Given the description of an element on the screen output the (x, y) to click on. 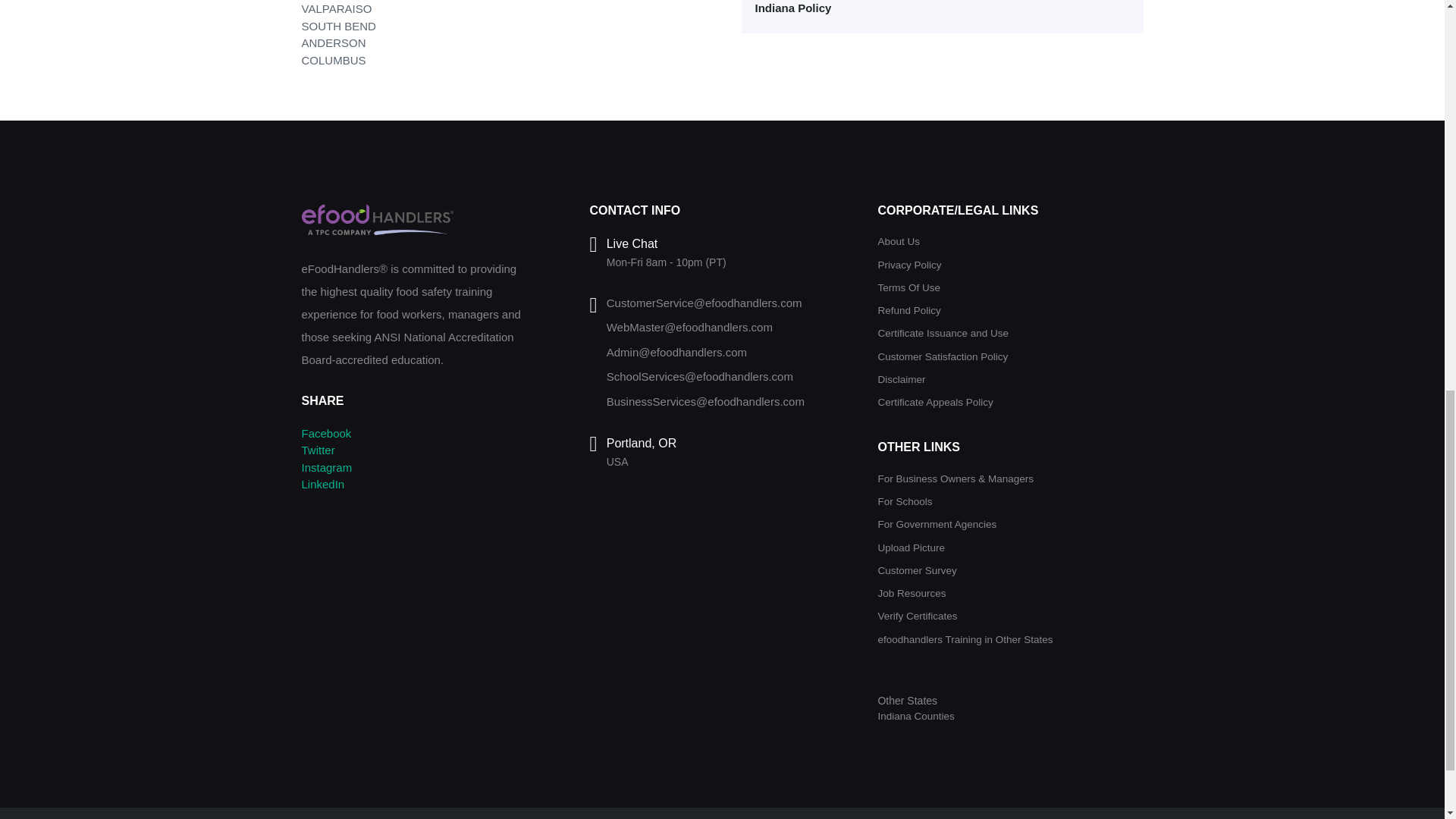
Facebook (326, 432)
Twitter (317, 449)
